Given the description of an element on the screen output the (x, y) to click on. 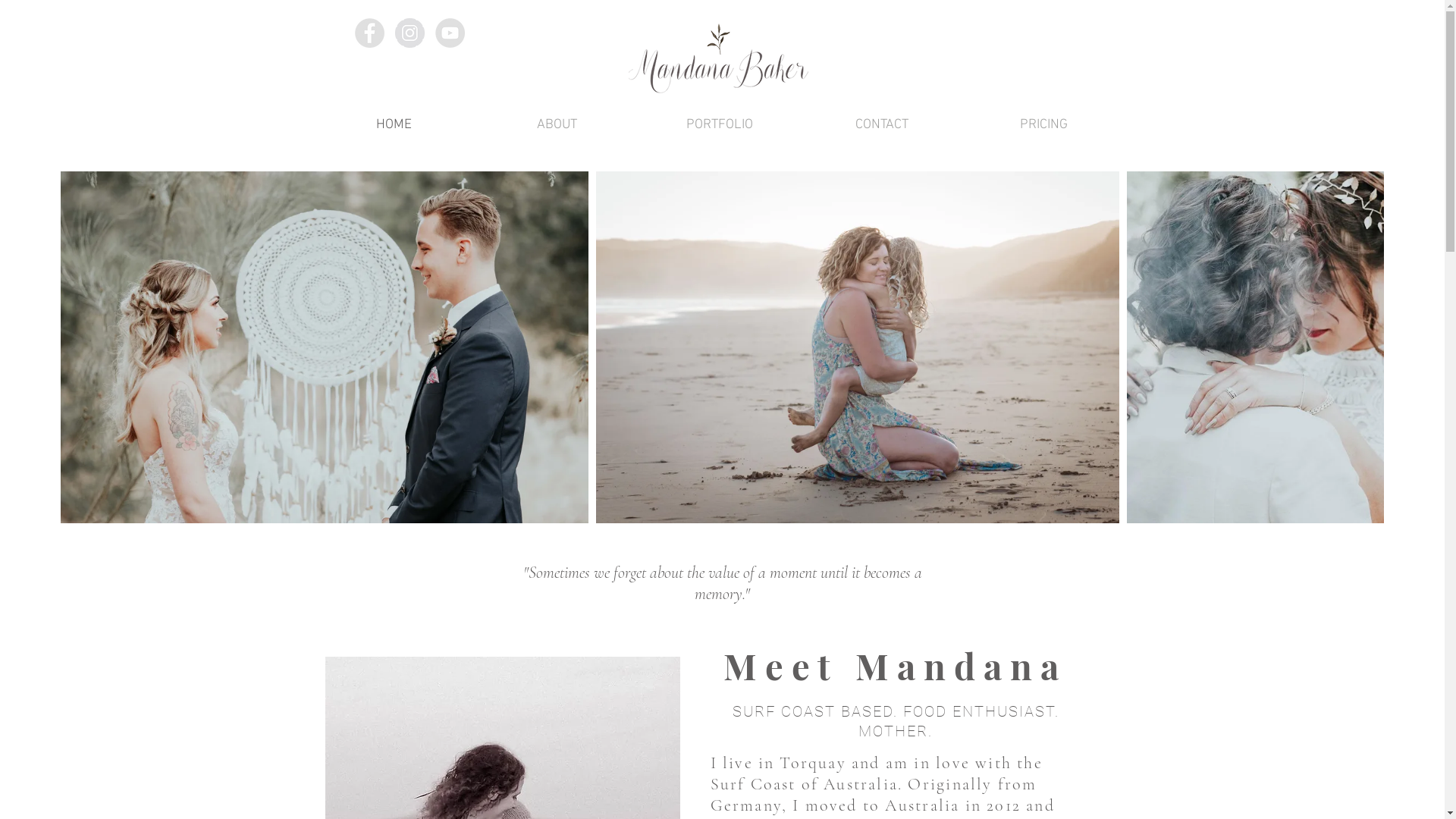
ABOUT Element type: text (555, 125)
HOME Element type: text (393, 125)
PORTFOLIO Element type: text (719, 125)
PRICING Element type: text (1044, 125)
CONTACT Element type: text (881, 125)
